Given the description of an element on the screen output the (x, y) to click on. 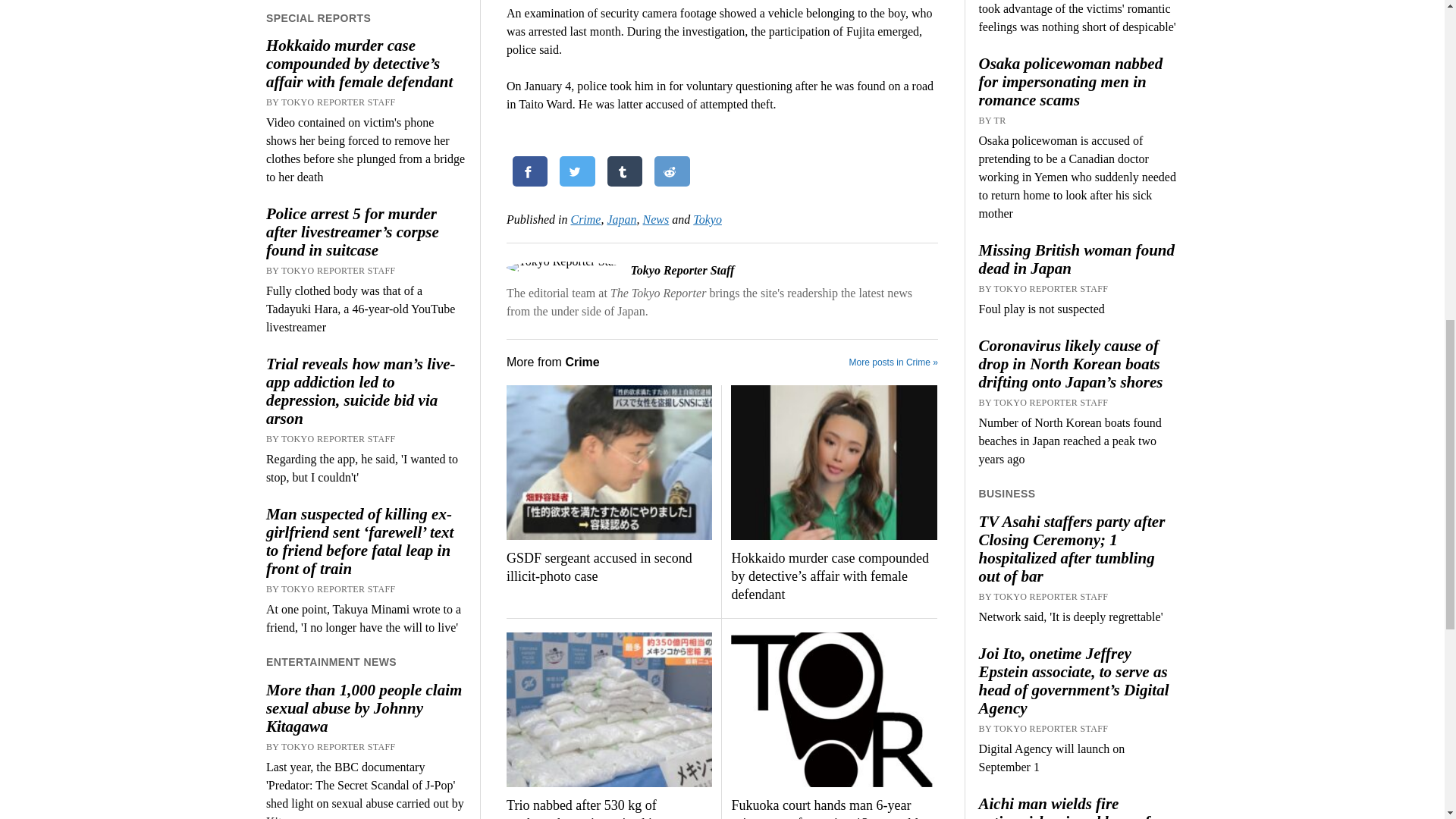
View all posts in News (656, 219)
View all posts in Tokyo (707, 219)
View all posts in Japan (621, 219)
View all posts in Crime (584, 219)
